Given the description of an element on the screen output the (x, y) to click on. 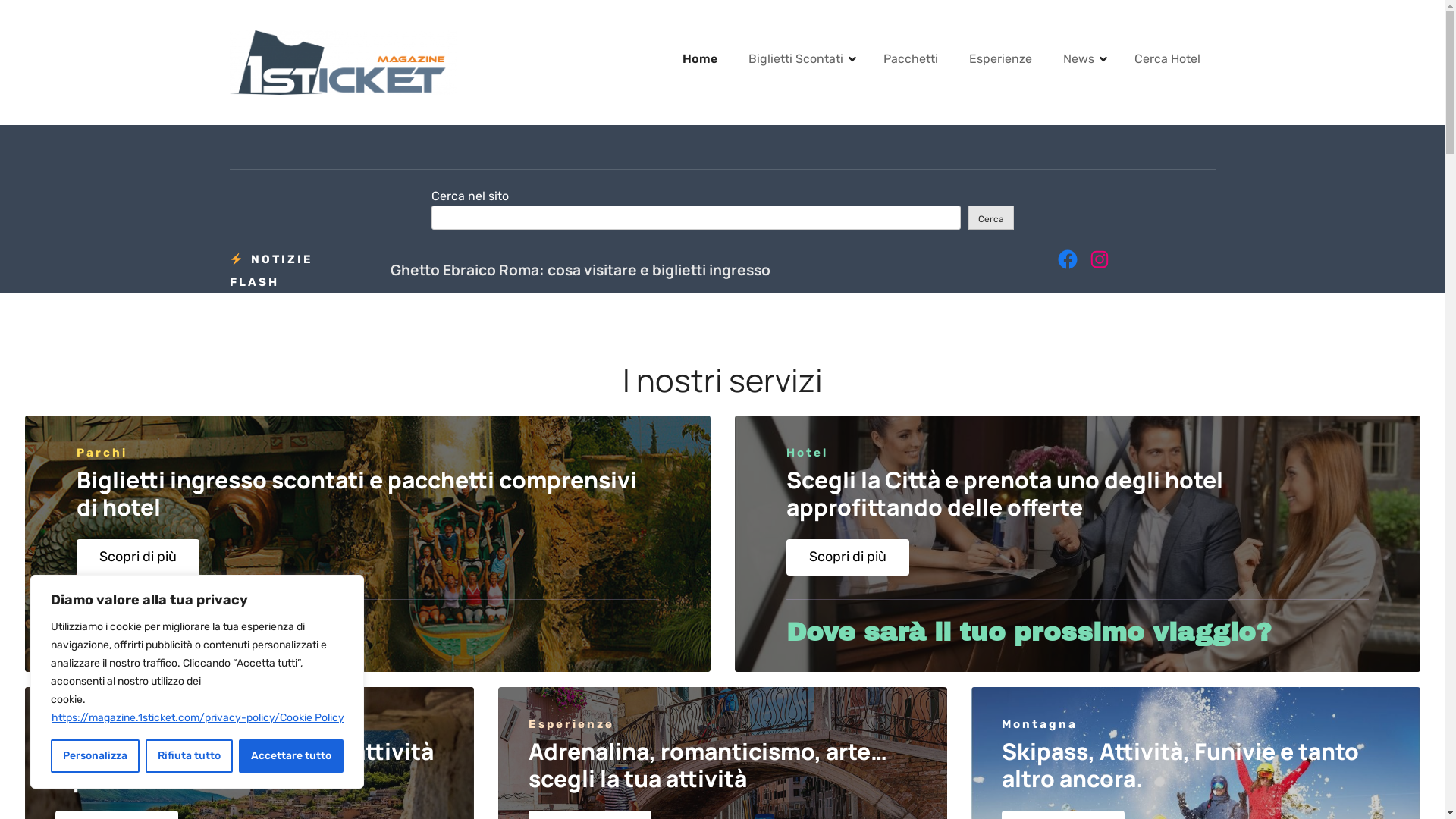
Instagram Element type: text (1098, 258)
Ghetto Ebraico Roma: cosa visitare e biglietti ingresso Element type: text (702, 269)
Home Element type: text (699, 59)
Cerca Hotel Element type: text (1167, 59)
Rifiuta tutto Element type: text (188, 755)
News Element type: text (1083, 59)
https://magazine.1sticket.com/privacy-policy/Cookie Policy Element type: text (197, 717)
Accettare tutto Element type: text (290, 755)
Biglietti Scontati Element type: text (799, 59)
Personalizza Element type: text (94, 755)
Cerca Element type: text (990, 217)
Esperienze Element type: text (1000, 59)
Pacchetti Element type: text (909, 59)
